Given the description of an element on the screen output the (x, y) to click on. 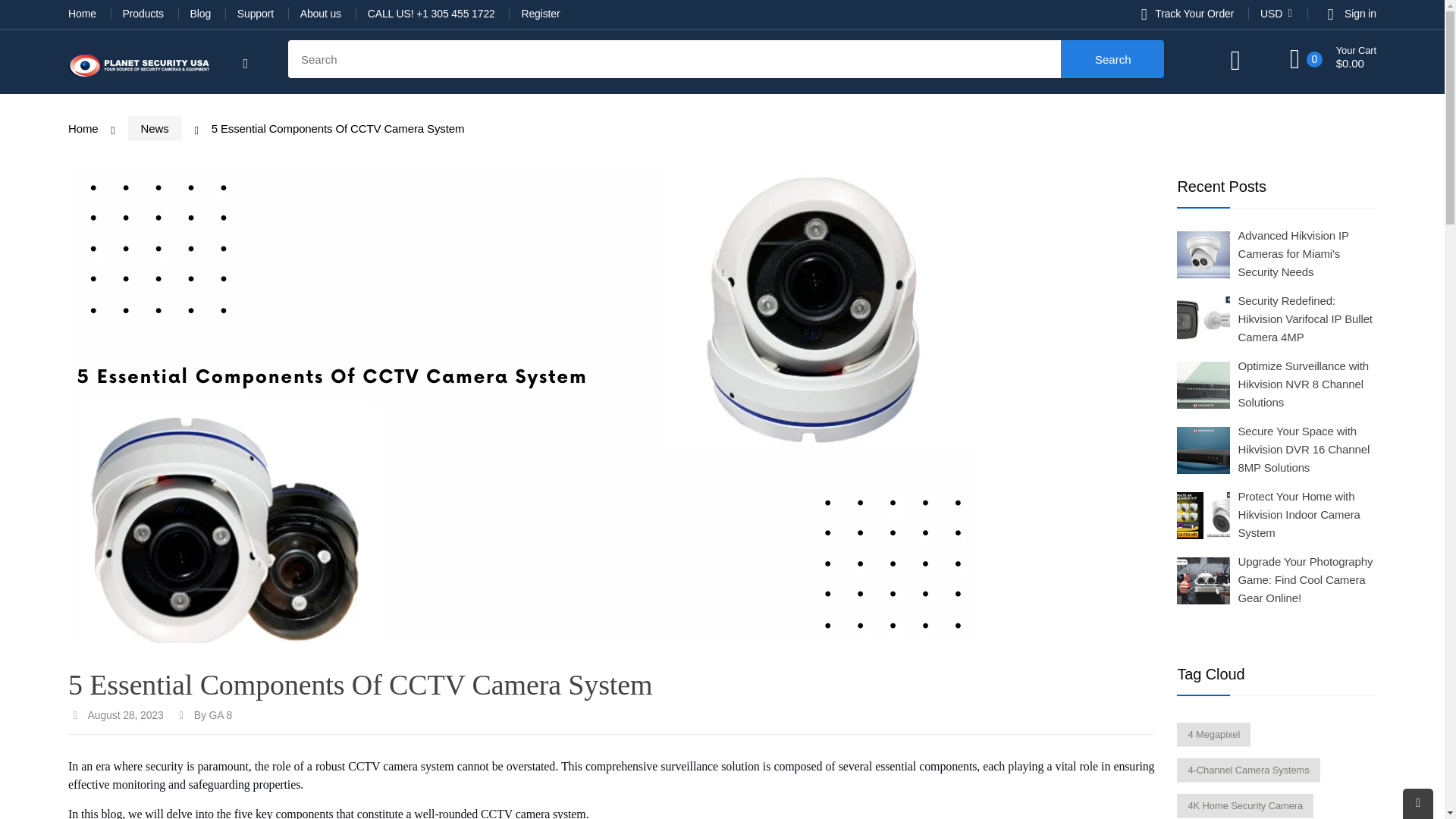
Home (83, 13)
Support (256, 13)
Back to the frontpage (83, 128)
Blog (202, 13)
Show articles tagged 4-Channel Camera Systems (1247, 770)
Show articles tagged 4K Home Security Camera (1244, 805)
Register (540, 13)
Track Your Order (1182, 13)
Sign in (1359, 13)
Show articles tagged 4 Megapixel (1213, 734)
